Given the description of an element on the screen output the (x, y) to click on. 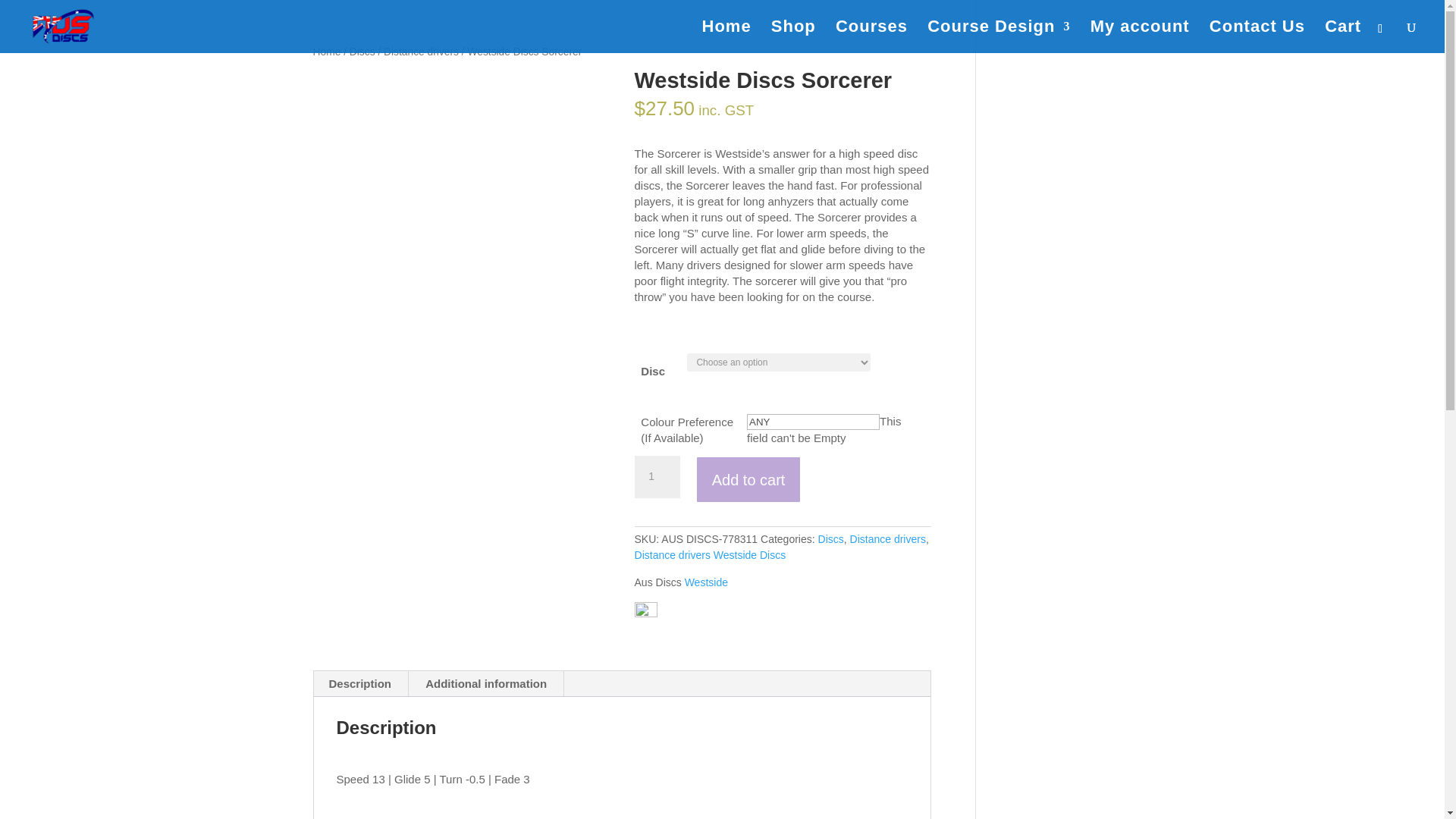
Distance drivers Westside Discs (710, 554)
Courses (871, 37)
Cart (1342, 37)
1 (656, 476)
My account (1139, 37)
Shop (793, 37)
Westside (706, 582)
Discs (362, 51)
Contact Us (1256, 37)
Distance drivers (421, 51)
